Given the description of an element on the screen output the (x, y) to click on. 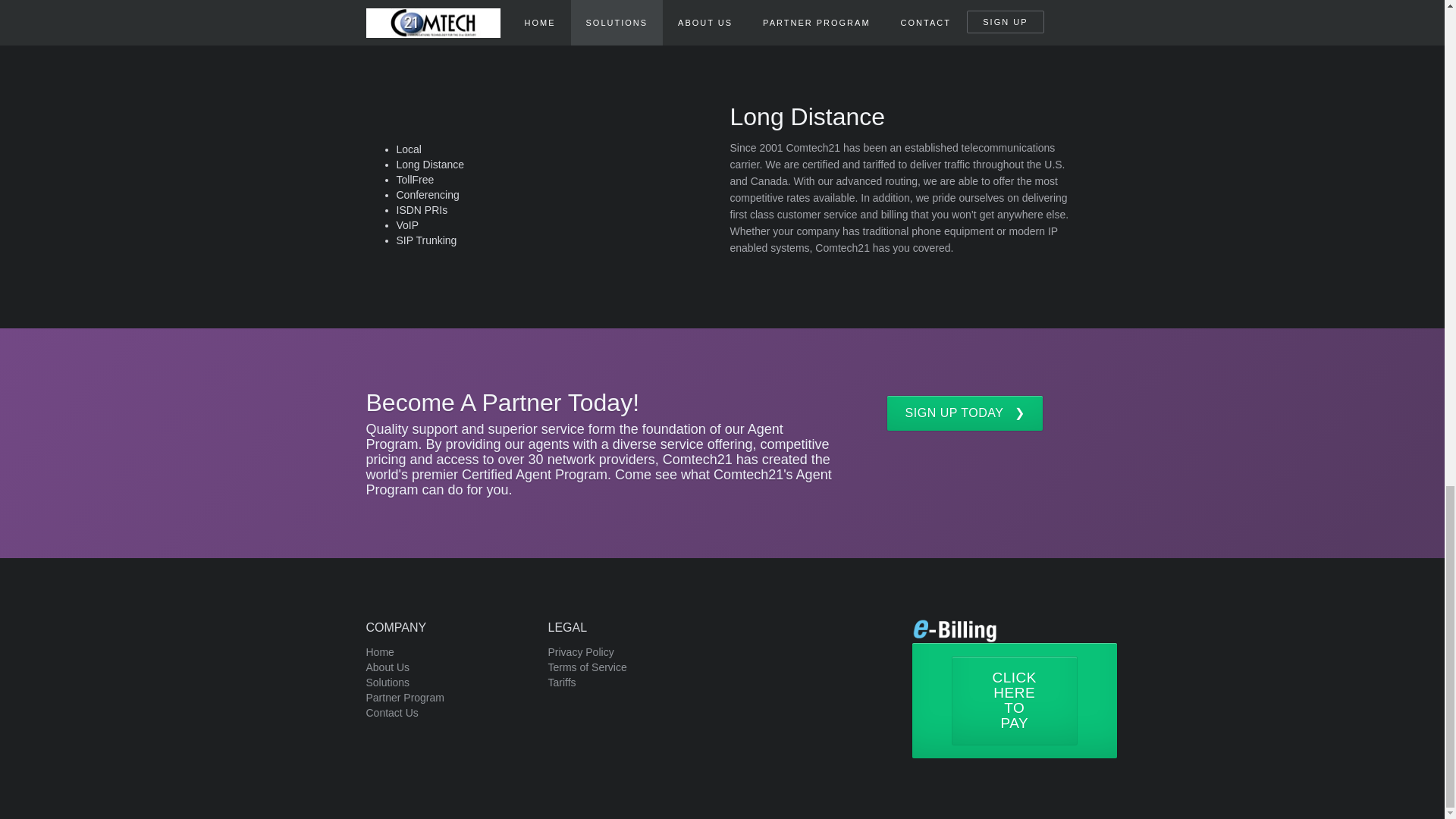
Contact Us (391, 712)
About Us (387, 667)
Solutions (387, 682)
CLICK HERE TO PAY (1013, 700)
Tariffs (561, 682)
Privacy Policy (579, 652)
Home (379, 652)
Terms of Service (586, 667)
Partner Program (404, 697)
